Given the description of an element on the screen output the (x, y) to click on. 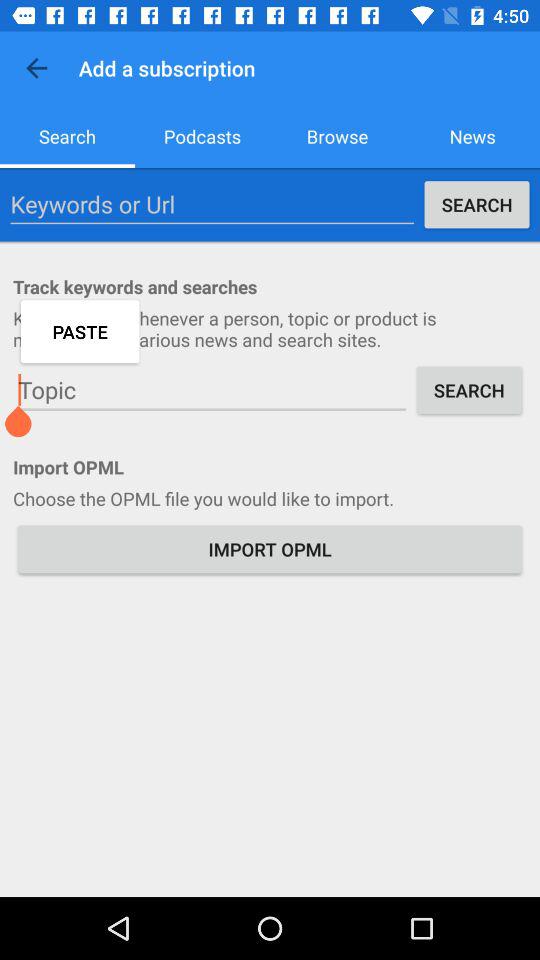
turn off item next to the search icon (212, 390)
